Given the description of an element on the screen output the (x, y) to click on. 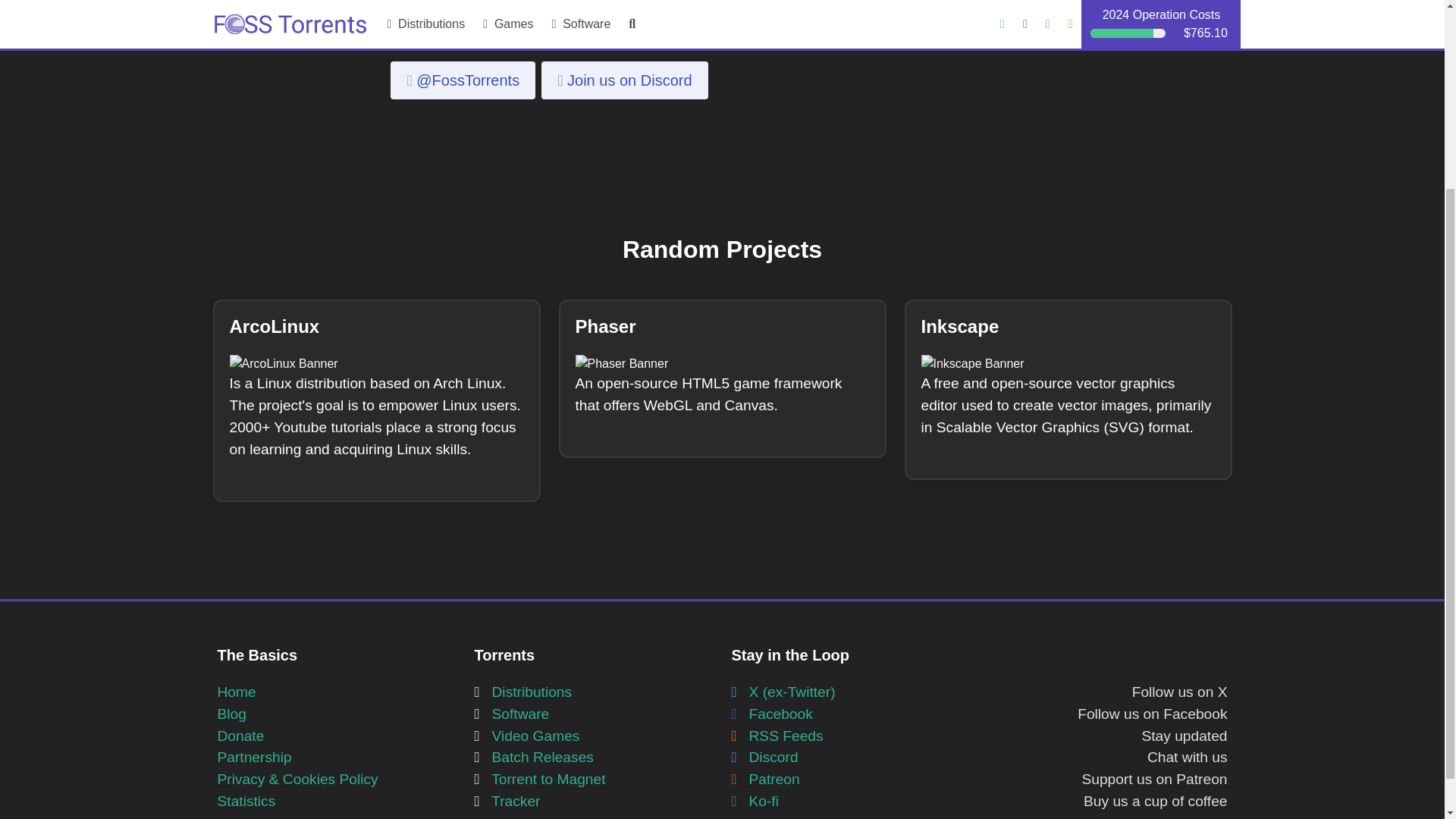
Blog (231, 713)
Partnership (253, 756)
  Facebook (771, 713)
Donate (239, 735)
  Ko-fi (753, 801)
  Torrent to Magnet (539, 779)
  Batch Releases (534, 756)
  Distributions (523, 691)
  Tracker (507, 801)
